Given the description of an element on the screen output the (x, y) to click on. 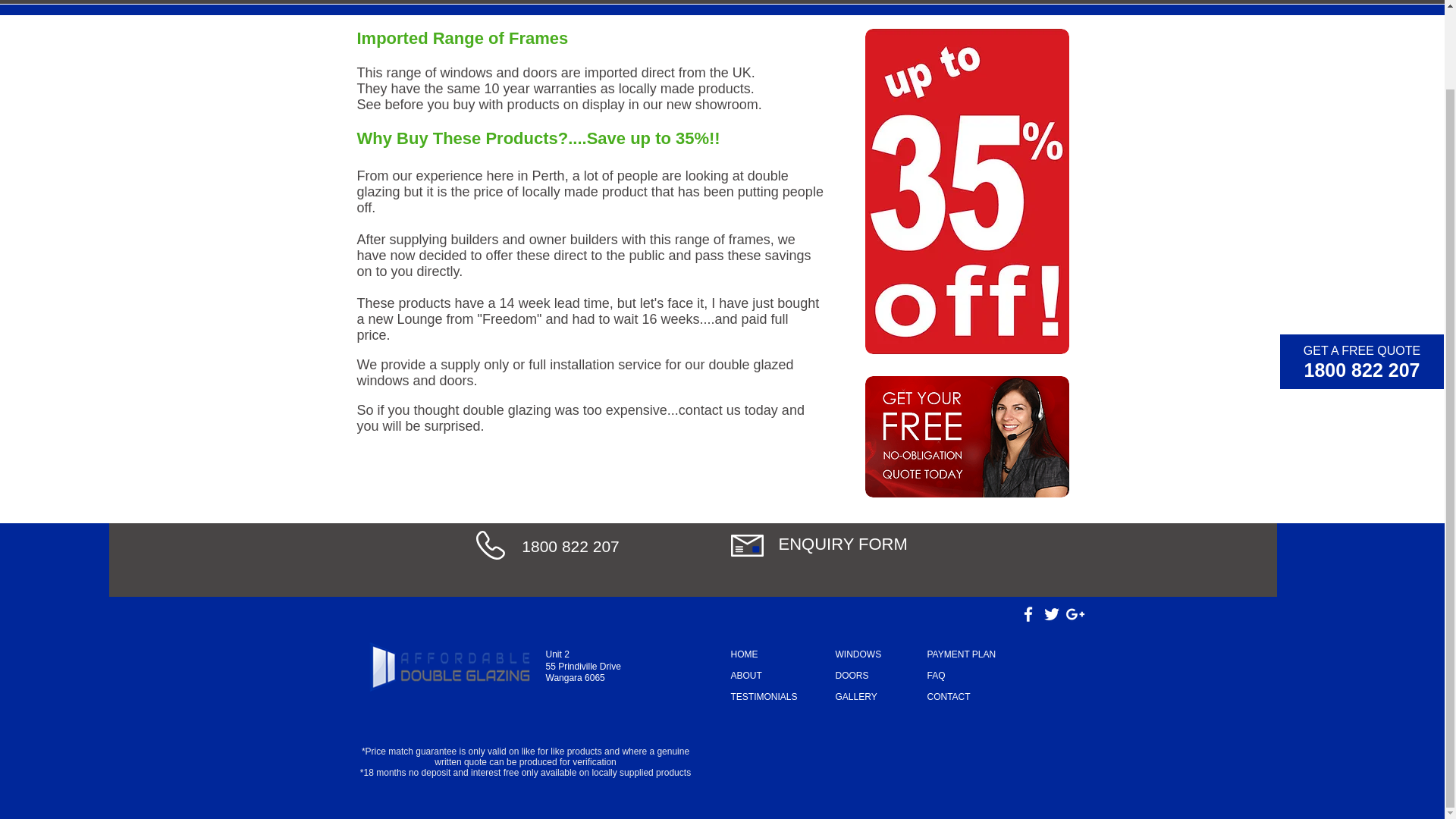
GALLERY (856, 696)
HOME (744, 654)
FAQ (935, 675)
PAYMENT PLAN (960, 654)
CONTACT (947, 696)
1800 822 207 (1362, 281)
index-free-quote.png (966, 436)
ABOUT (745, 675)
ENQUIRY FORM (842, 543)
DOORS (852, 675)
